Given the description of an element on the screen output the (x, y) to click on. 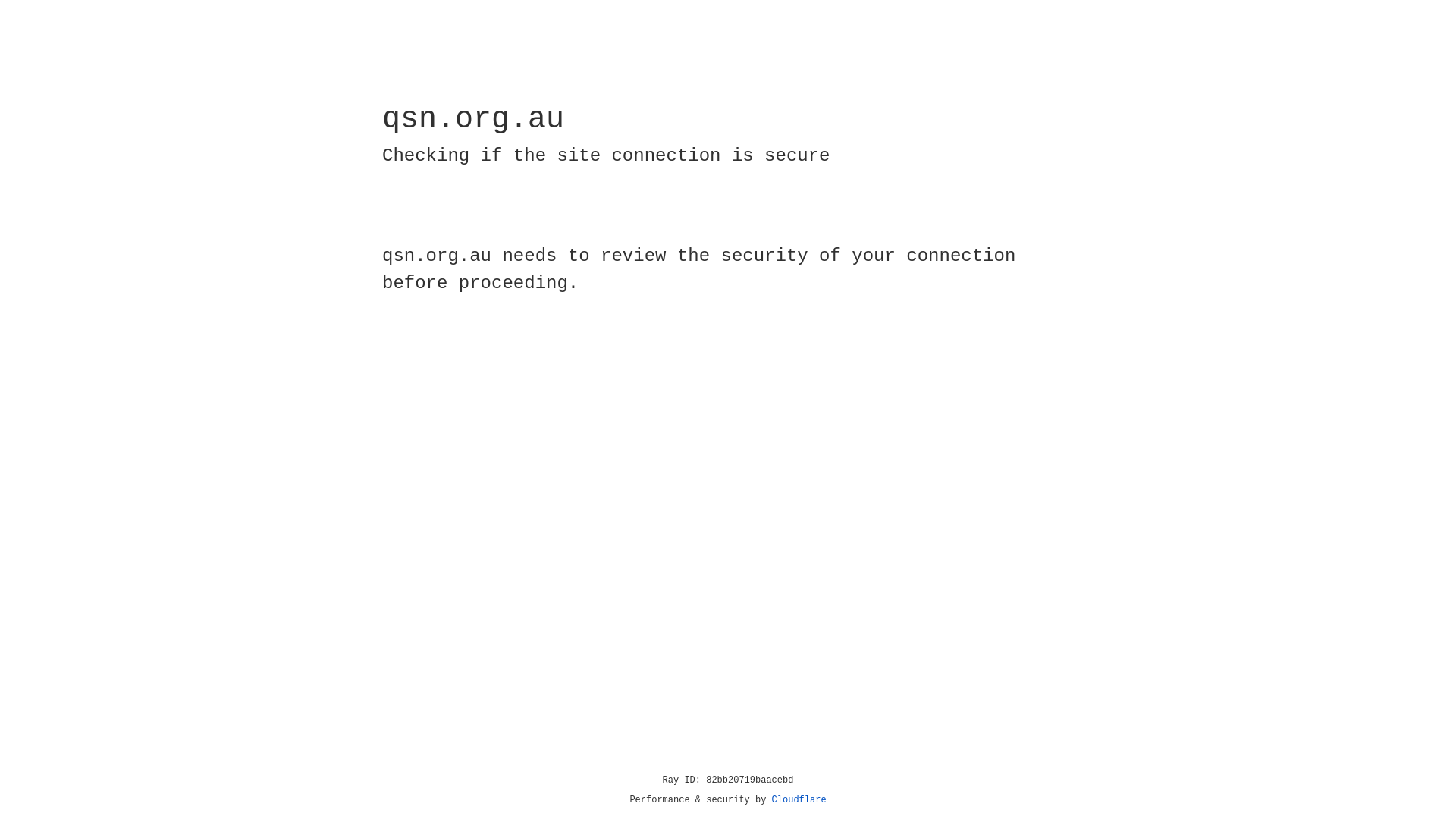
Cloudflare Element type: text (798, 799)
